Given the description of an element on the screen output the (x, y) to click on. 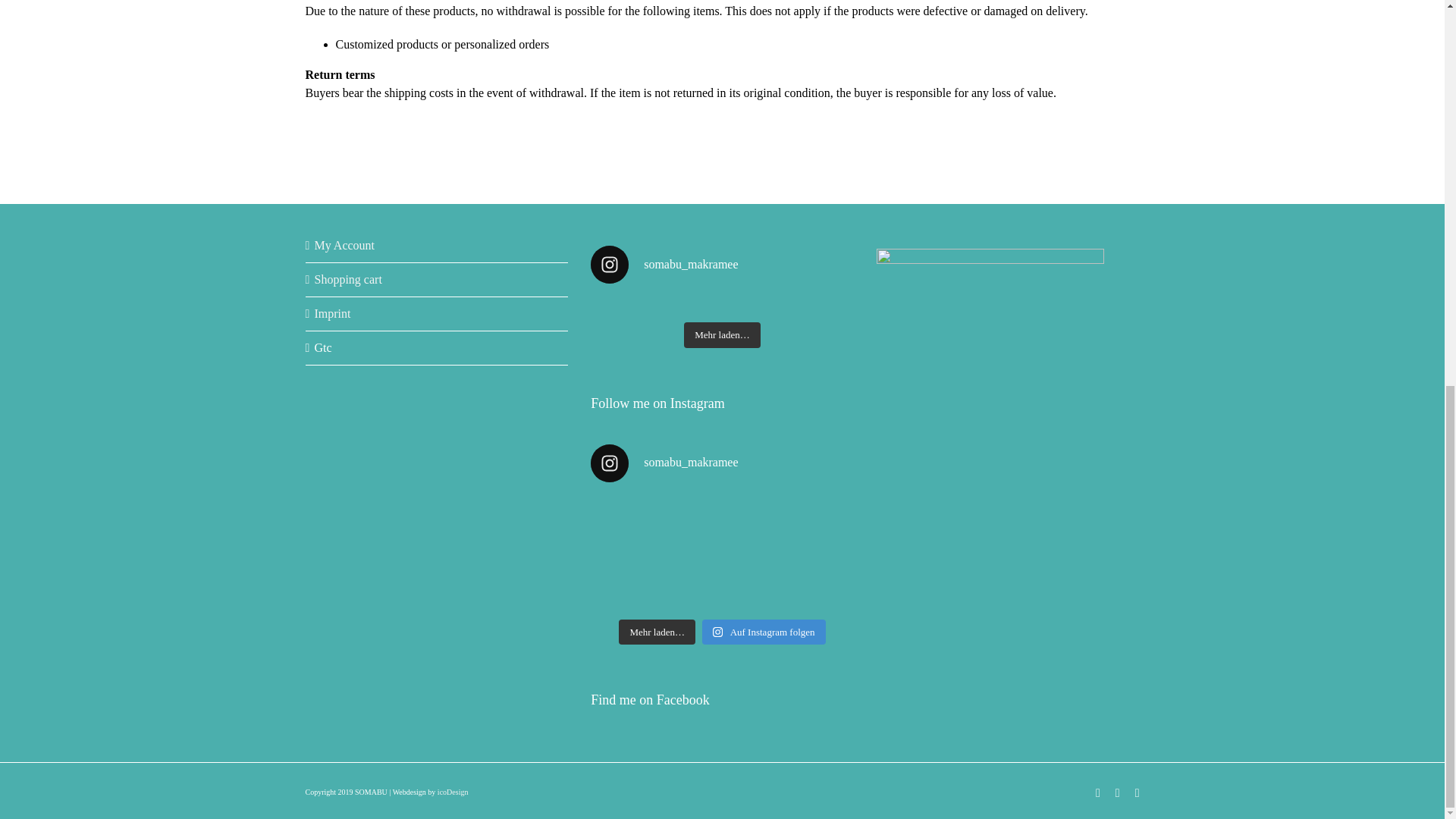
My Account (437, 245)
Shopping cart (437, 280)
Imprint (437, 313)
Gtc (437, 348)
